Given the description of an element on the screen output the (x, y) to click on. 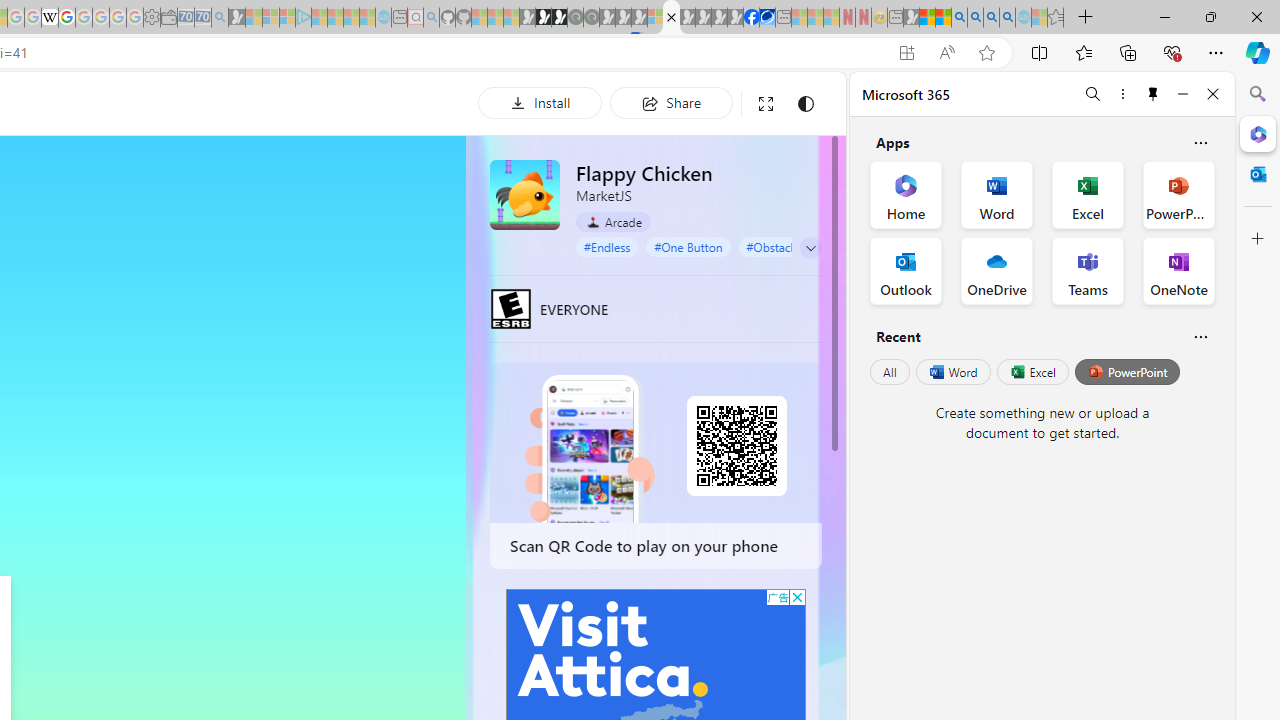
Bing AI - Search (959, 17)
OneDrive Office App (996, 270)
New tab - Sleeping (895, 17)
Search (1258, 94)
Excel (1031, 372)
Google Chrome Internet Browser Download - Search Images (1007, 17)
Word (952, 372)
Copilot (Ctrl+Shift+.) (1258, 52)
Home | Sky Blue Bikes - Sky Blue Bikes - Sleeping (383, 17)
Close tab (671, 16)
Full screen (765, 103)
OneNote Office App (1178, 270)
